Given the description of an element on the screen output the (x, y) to click on. 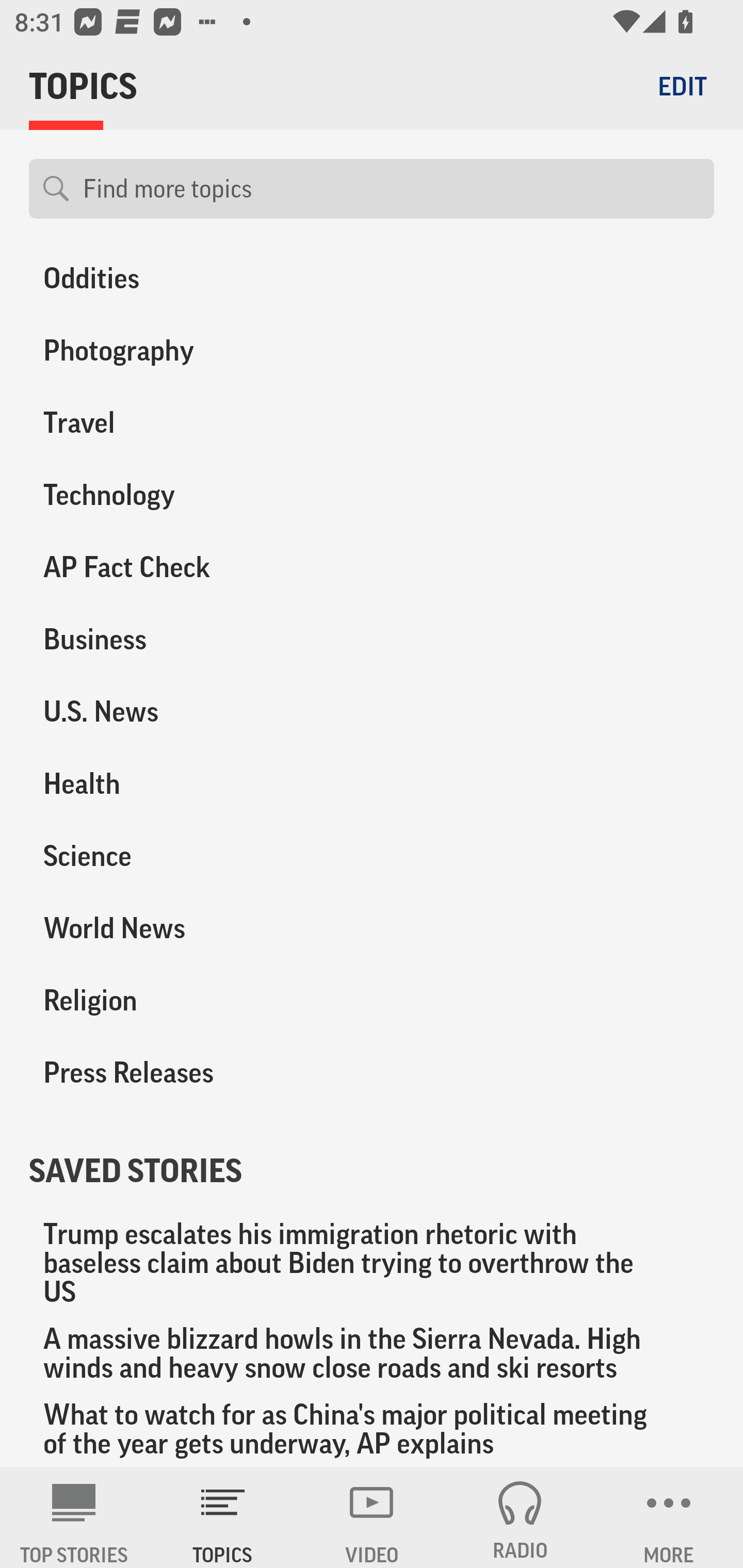
EDIT (682, 86)
Find more topics (391, 188)
Oddities (185, 281)
Photography (185, 351)
Travel (185, 423)
Technology (185, 495)
AP Fact Check (185, 567)
Business (185, 639)
U.S. News (185, 711)
Health (185, 783)
Science (185, 856)
World News (185, 928)
Religion (185, 1000)
Press Releases (185, 1072)
AP News TOP STORIES (74, 1517)
TOPICS (222, 1517)
VIDEO (371, 1517)
RADIO (519, 1517)
MORE (668, 1517)
